Given the description of an element on the screen output the (x, y) to click on. 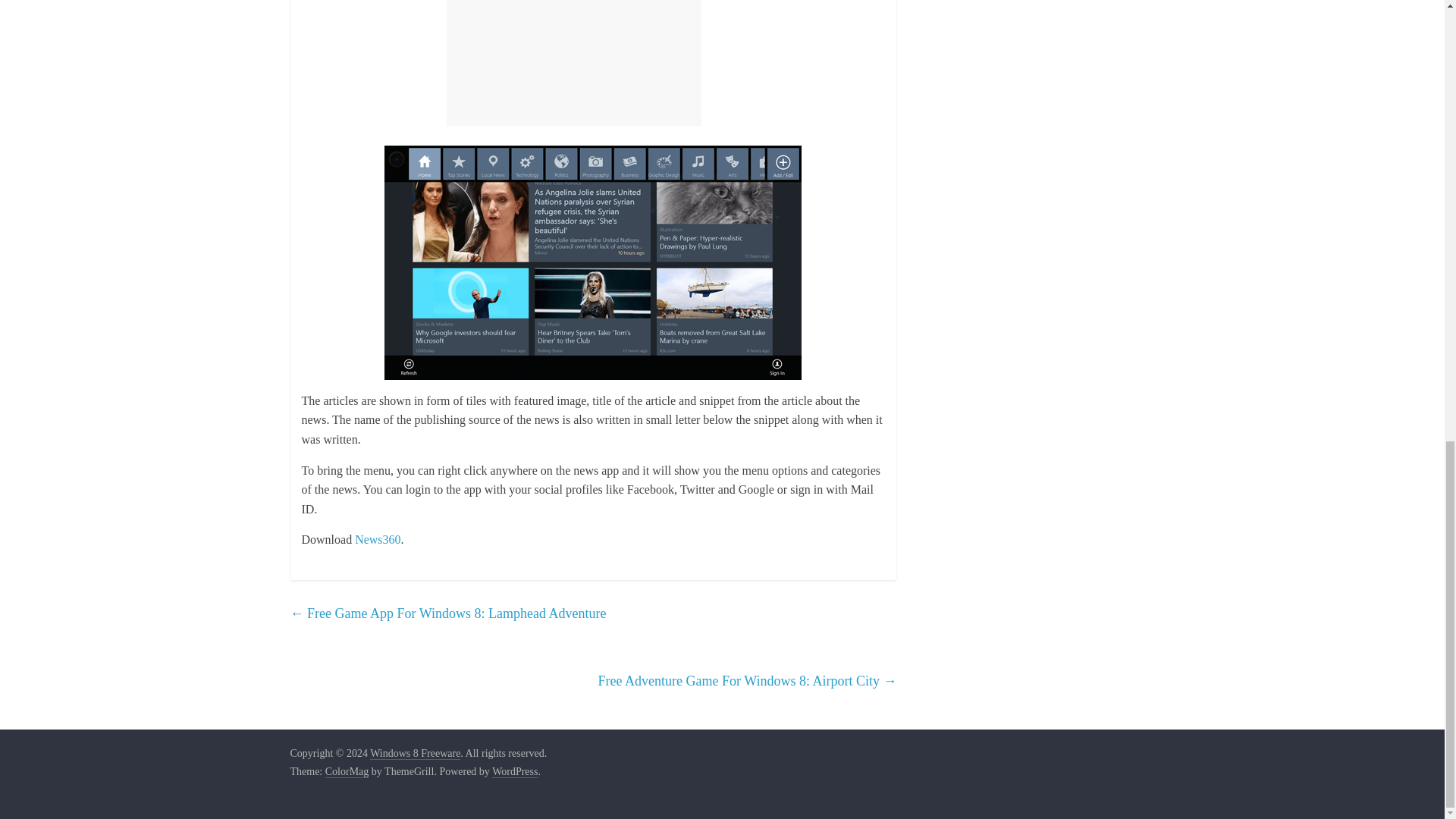
News360 (377, 539)
News360 (377, 539)
ColorMag (346, 771)
Windows 8 Freeware (414, 753)
